Given the description of an element on the screen output the (x, y) to click on. 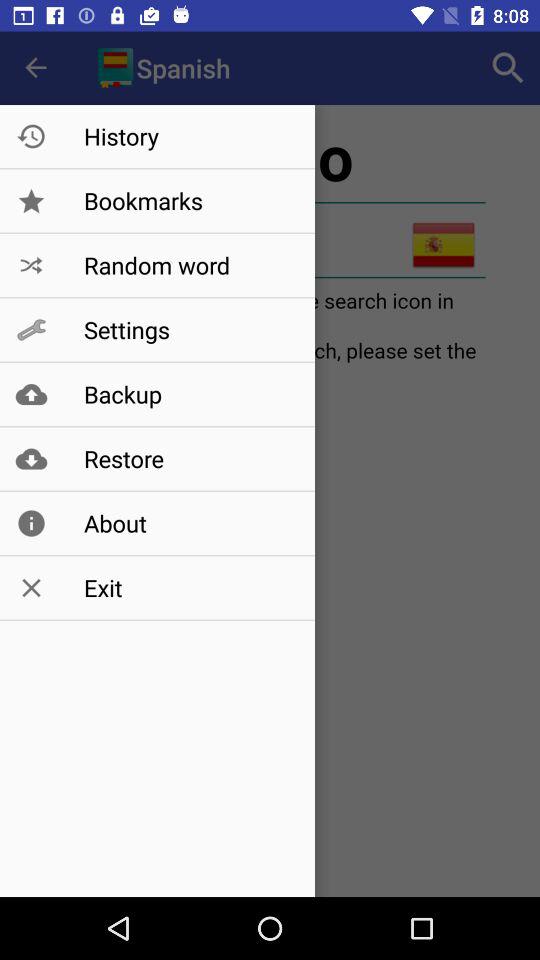
open item at the top right corner (508, 67)
